Given the description of an element on the screen output the (x, y) to click on. 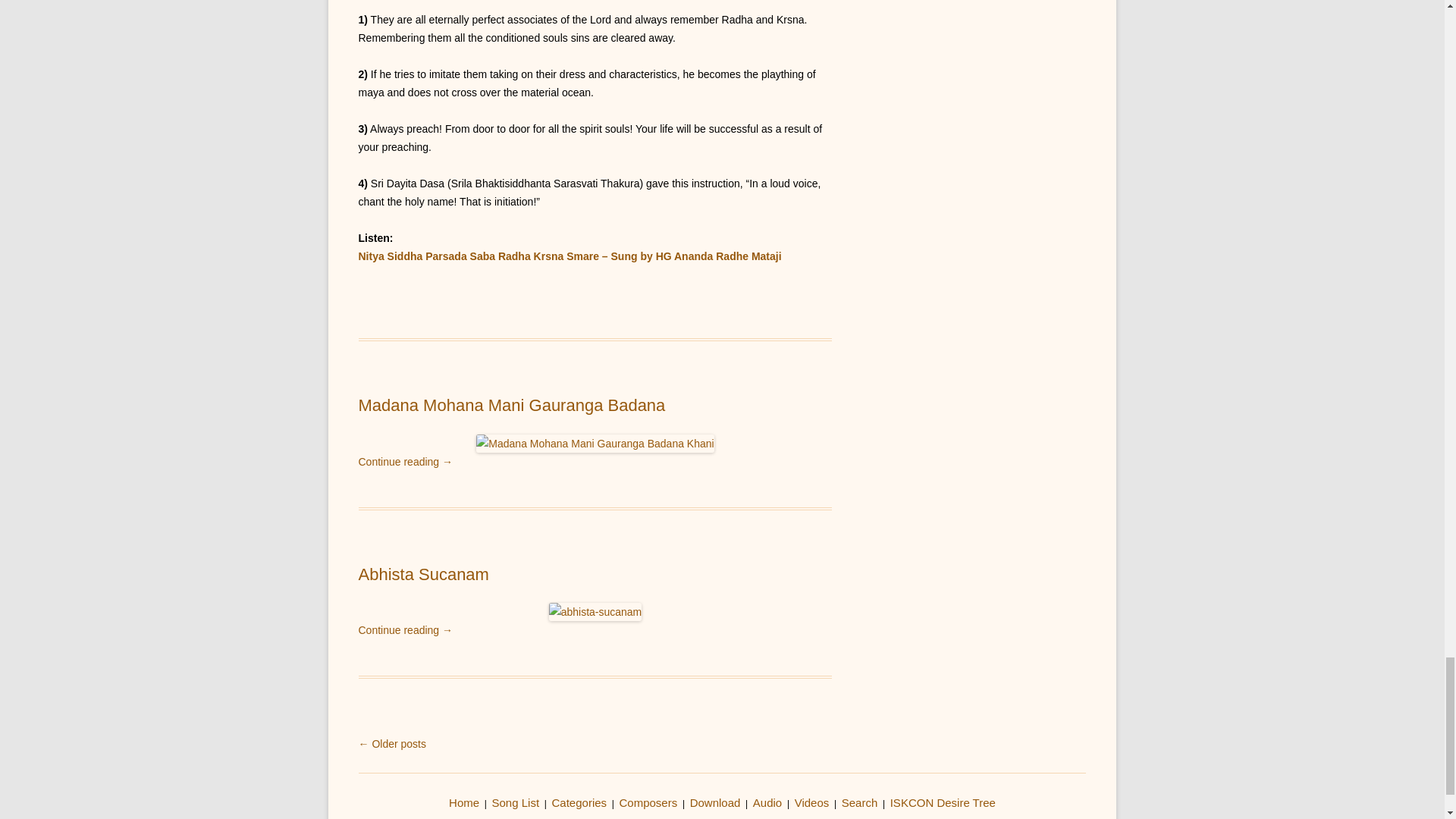
Madana Mohana Mani Gauranga Badana (511, 404)
